Given the description of an element on the screen output the (x, y) to click on. 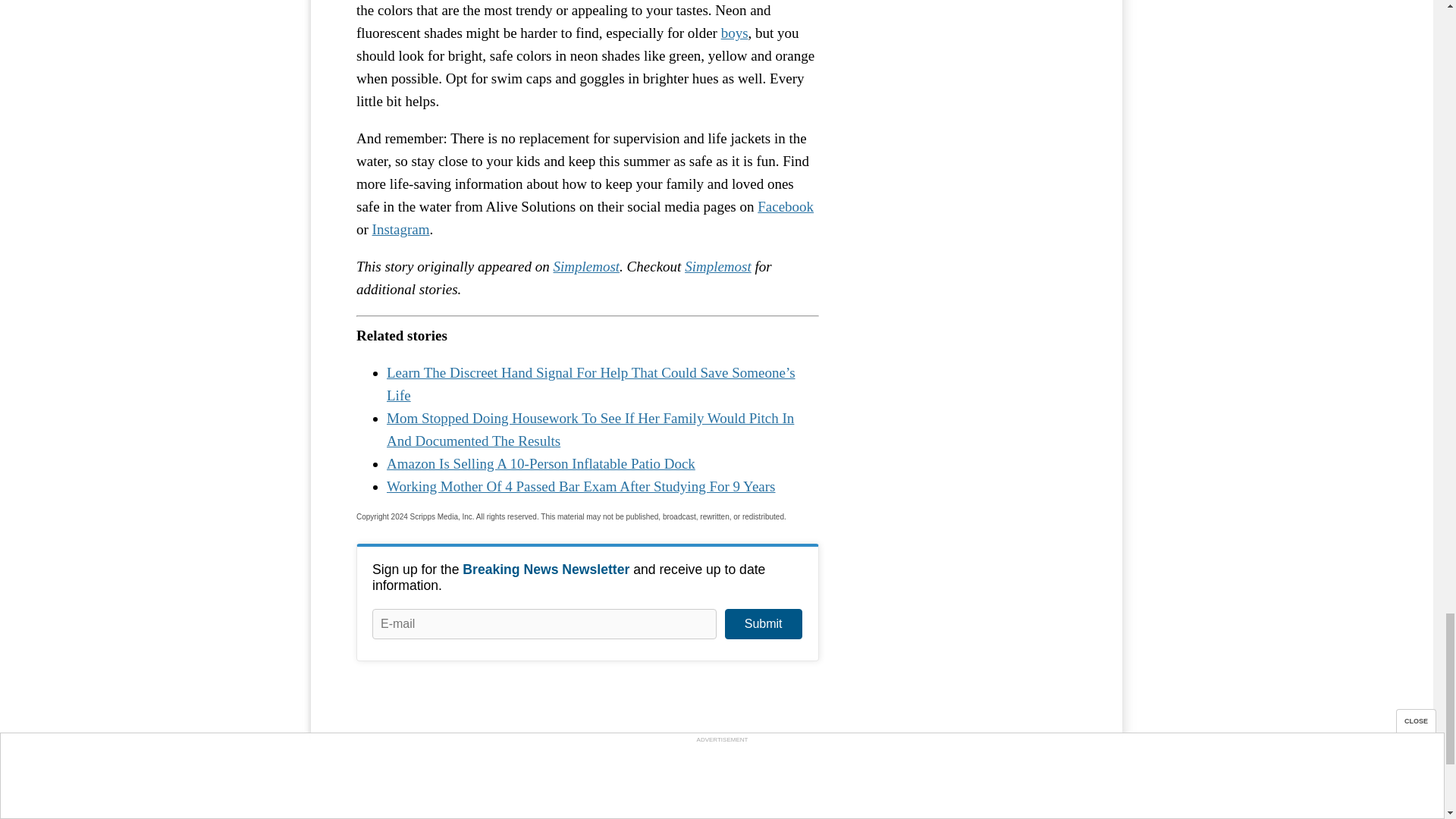
Submit (763, 624)
